Given the description of an element on the screen output the (x, y) to click on. 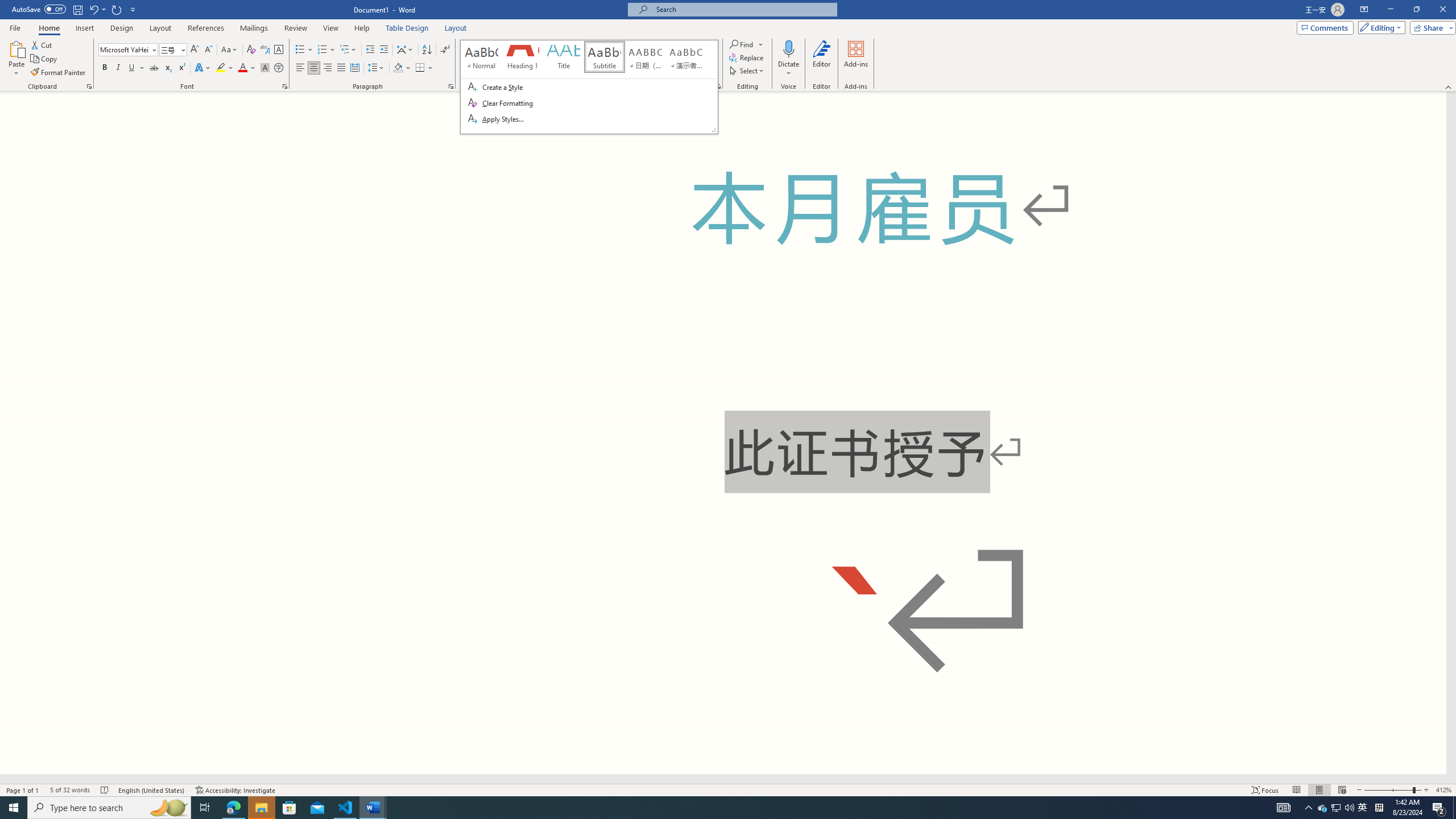
Spelling and Grammar Check No Errors (105, 790)
Word - 2 running windows (373, 807)
Running applications (700, 807)
Zoom 412% (1443, 790)
